Given the description of an element on the screen output the (x, y) to click on. 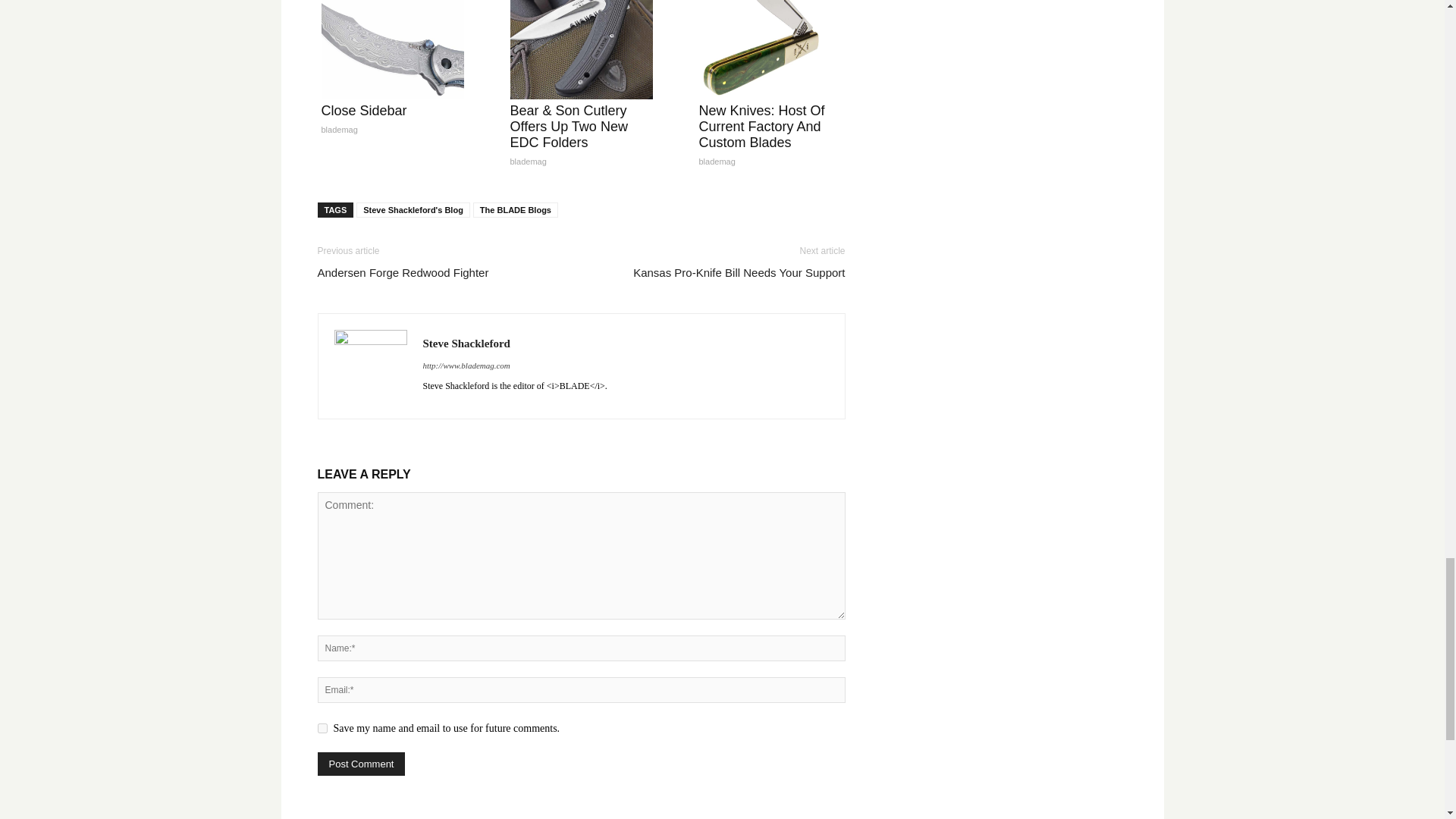
yes (321, 728)
Post Comment (360, 763)
